Given the description of an element on the screen output the (x, y) to click on. 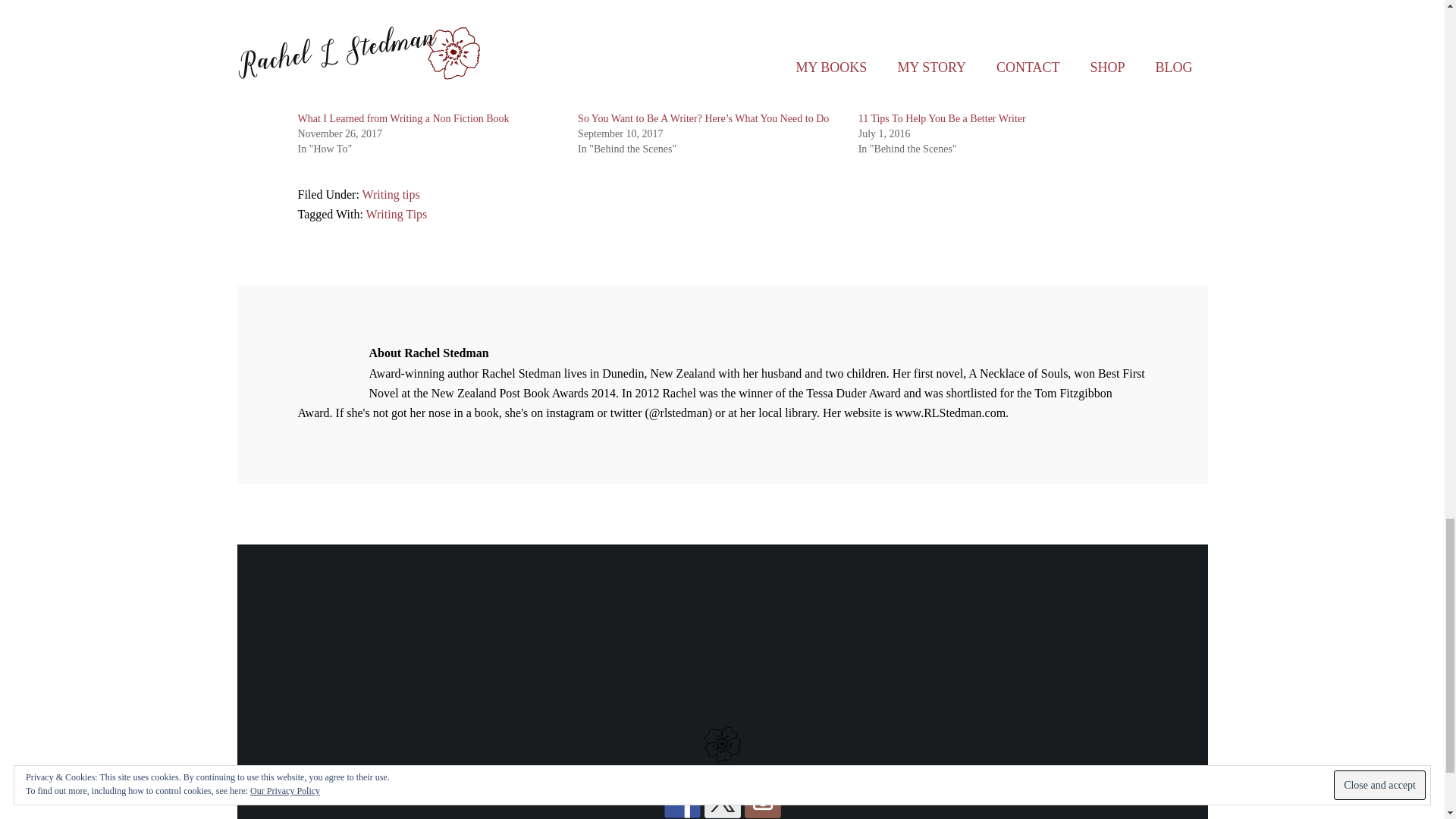
11 Tips To Help You Be a Better Writer (942, 118)
Check out my Instagram feed (762, 800)
Click to share on Facebook (339, 27)
11 Tips To Help You Be a Better Writer (942, 118)
Click to share on Twitter (309, 27)
Writing Tips (397, 214)
Follow me on Facebook (681, 800)
What I Learned from Writing a Non Fiction Book (402, 118)
What I Learned from Writing a Non Fiction Book (402, 118)
Writing tips (391, 194)
